Given the description of an element on the screen output the (x, y) to click on. 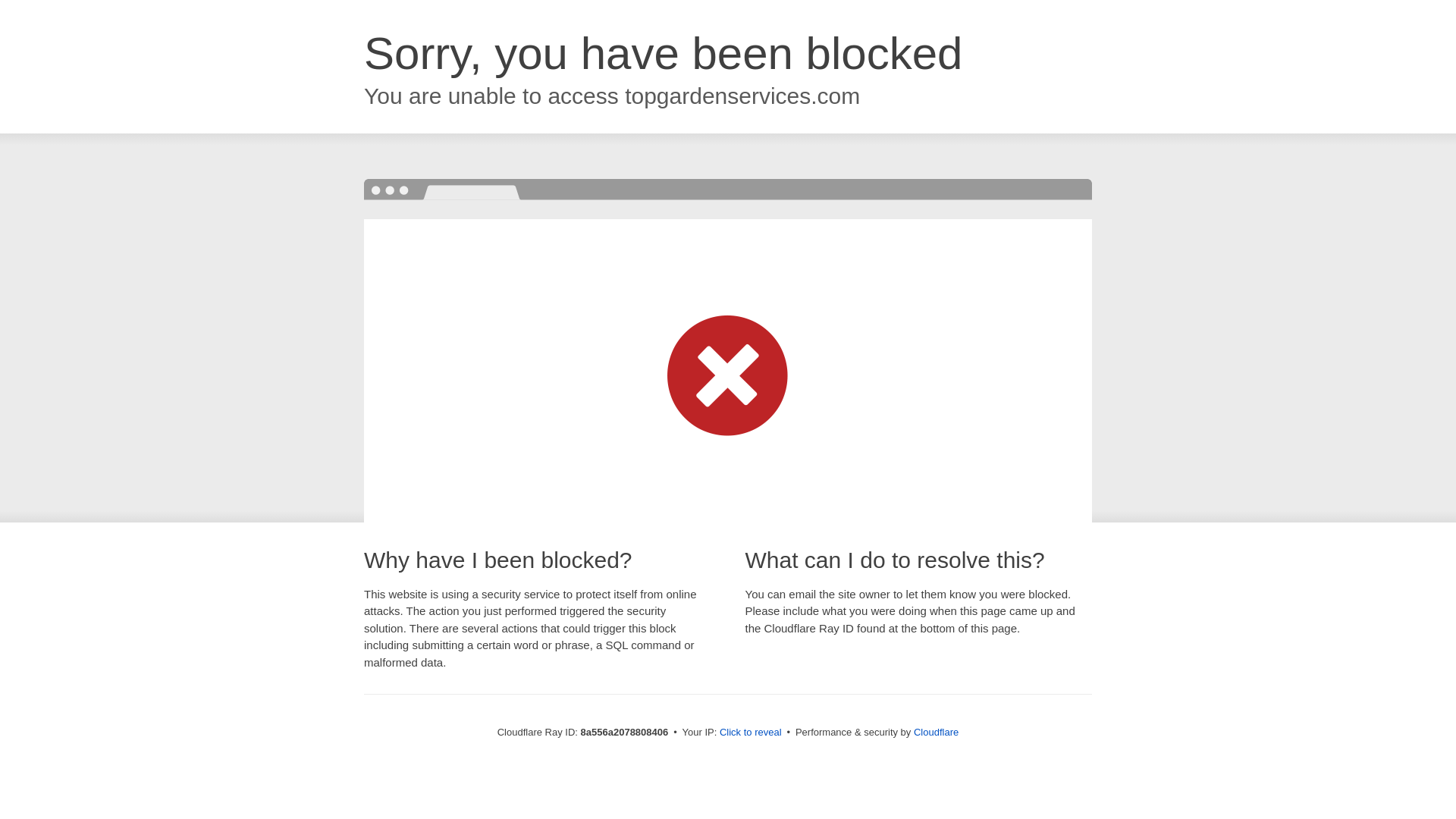
Click to reveal (750, 732)
Cloudflare (936, 731)
